Given the description of an element on the screen output the (x, y) to click on. 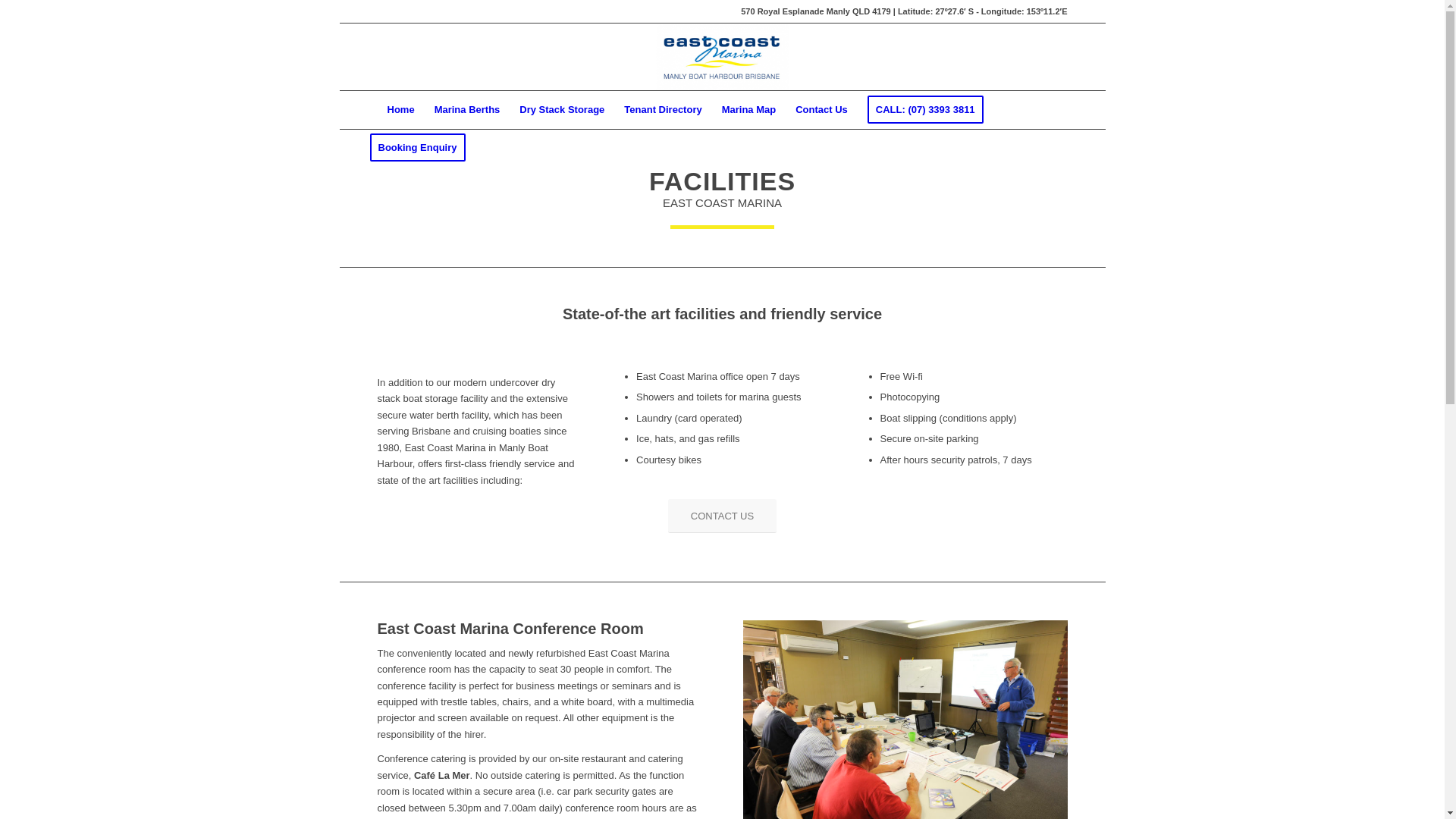
CONTACT US Element type: text (722, 515)
Marina Berths Element type: text (467, 109)
Marina Map Element type: text (749, 109)
cropped-logo-infinity-1(1) Element type: hover (722, 56)
CALL: (07) 3393 3811 Element type: text (925, 109)
Contact Us Element type: text (821, 109)
Booking Enquiry Element type: text (422, 147)
Tenant Directory Element type: text (662, 109)
Home Element type: text (400, 109)
Dry Stack Storage Element type: text (561, 109)
